Given the description of an element on the screen output the (x, y) to click on. 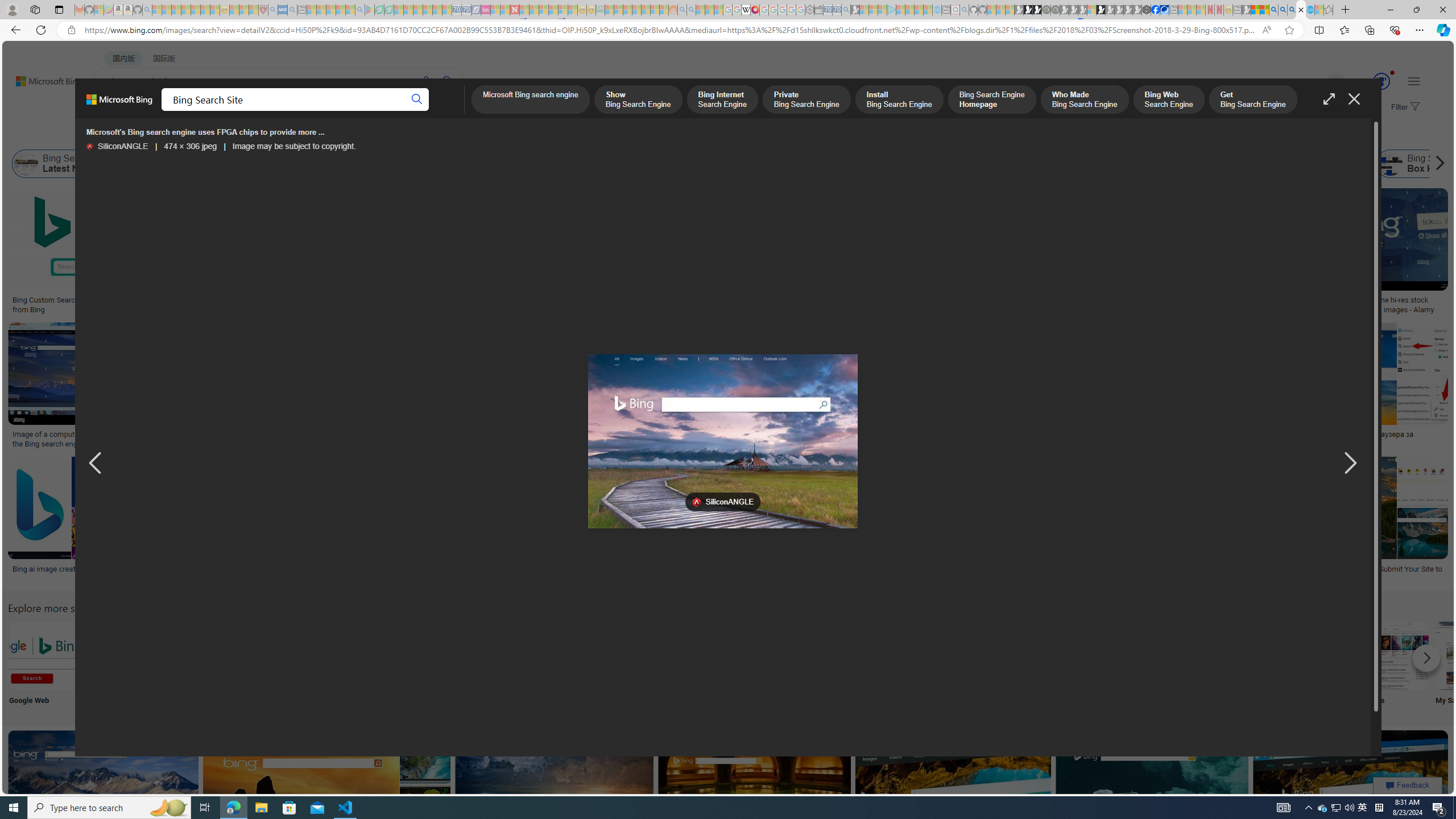
list of asthma inhalers uk - Search - Sleeping (272, 9)
The Weather Channel - MSN - Sleeping (175, 9)
Bing Best Search Engine (776, 163)
License (378, 135)
Animation (1392, 72)
Search using voice (426, 80)
ACADEMIC (360, 111)
Recipes - MSN - Sleeping (234, 9)
Bing Search App Icon (418, 654)
Sign in to your account - Sleeping (1090, 9)
Bing Search Tips Tips (718, 665)
Bing T-Shirts (802, 227)
